Given the description of an element on the screen output the (x, y) to click on. 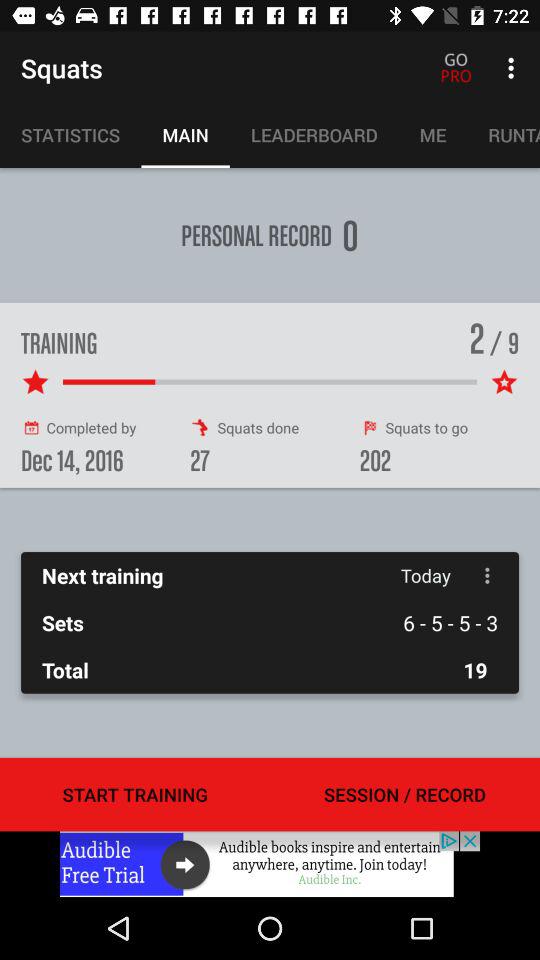
menu (487, 575)
